Given the description of an element on the screen output the (x, y) to click on. 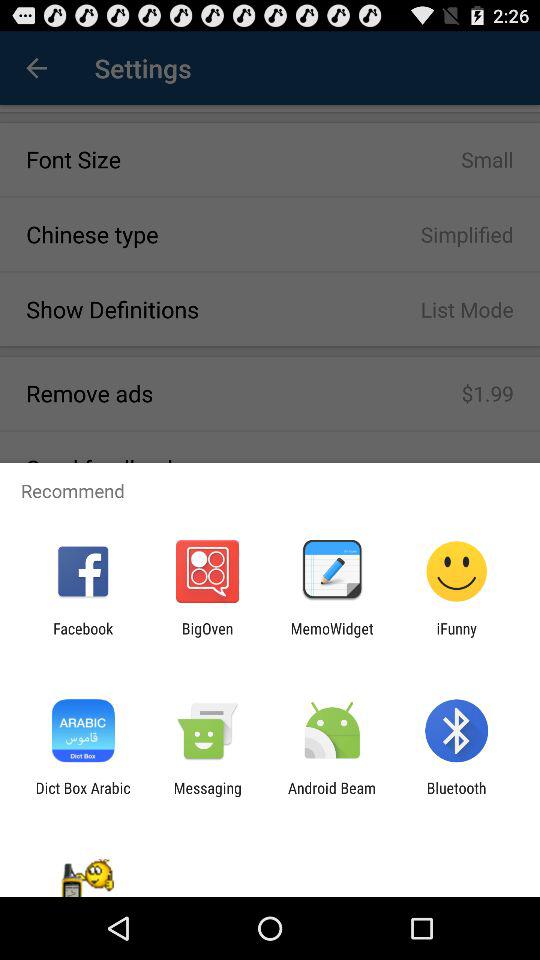
open icon next to bigoven (83, 637)
